Given the description of an element on the screen output the (x, y) to click on. 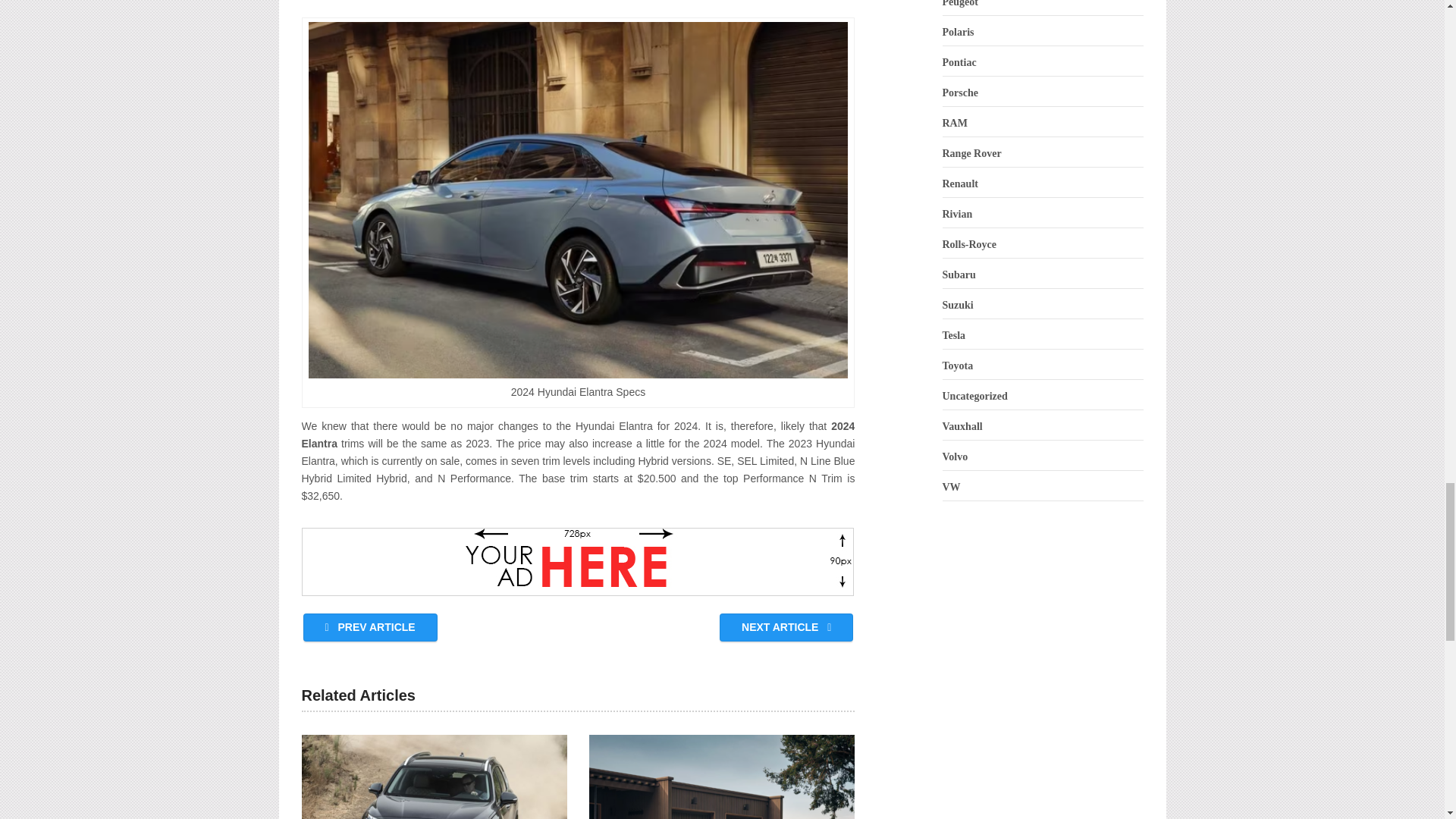
2024 Hyundai Santa Fe Hybrid : What We Know So Far (434, 776)
2024 Hyundai Palisade Prices, Reviews, and Pictures (721, 776)
